Given the description of an element on the screen output the (x, y) to click on. 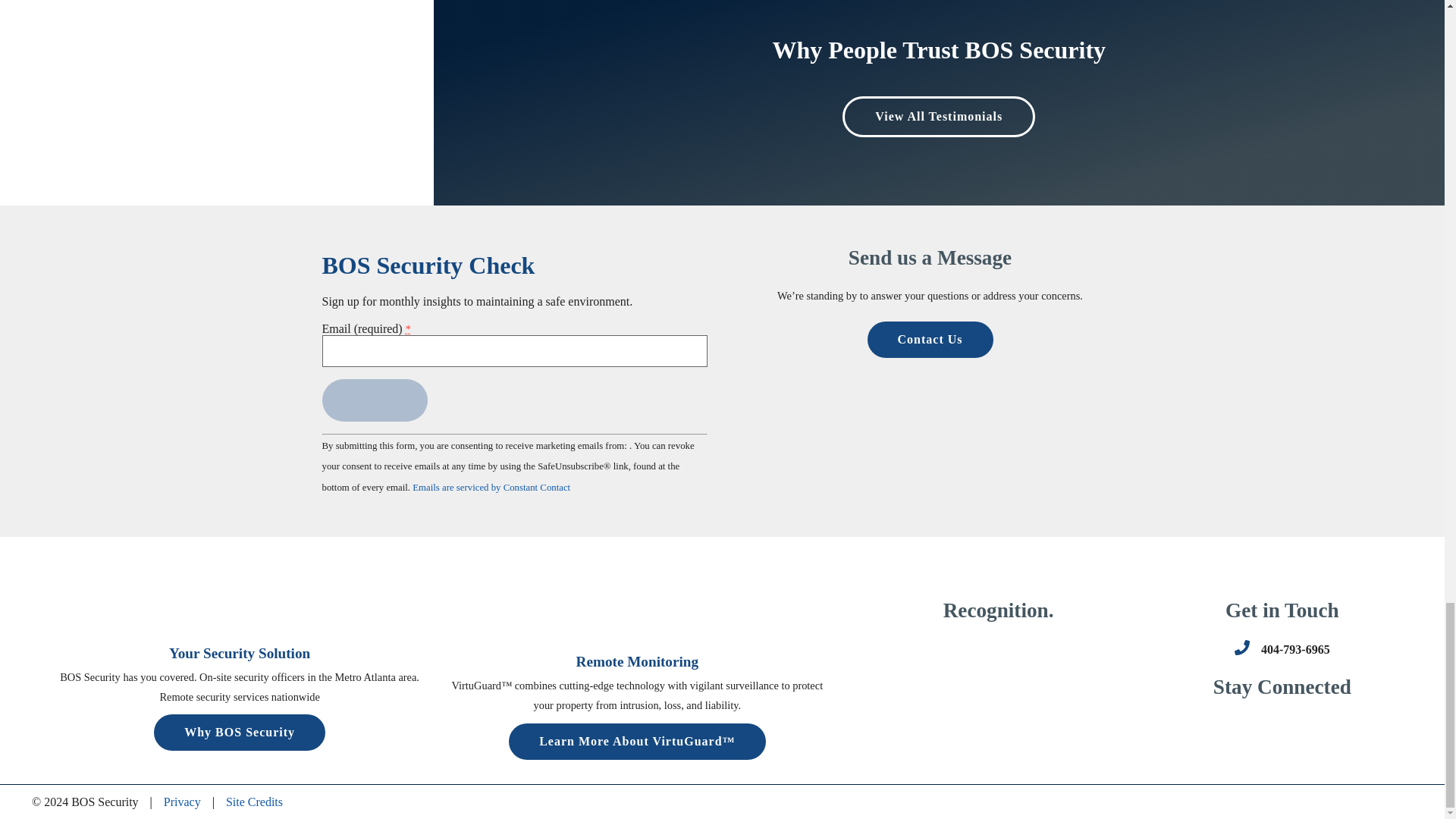
Sign up (373, 400)
